Given the description of an element on the screen output the (x, y) to click on. 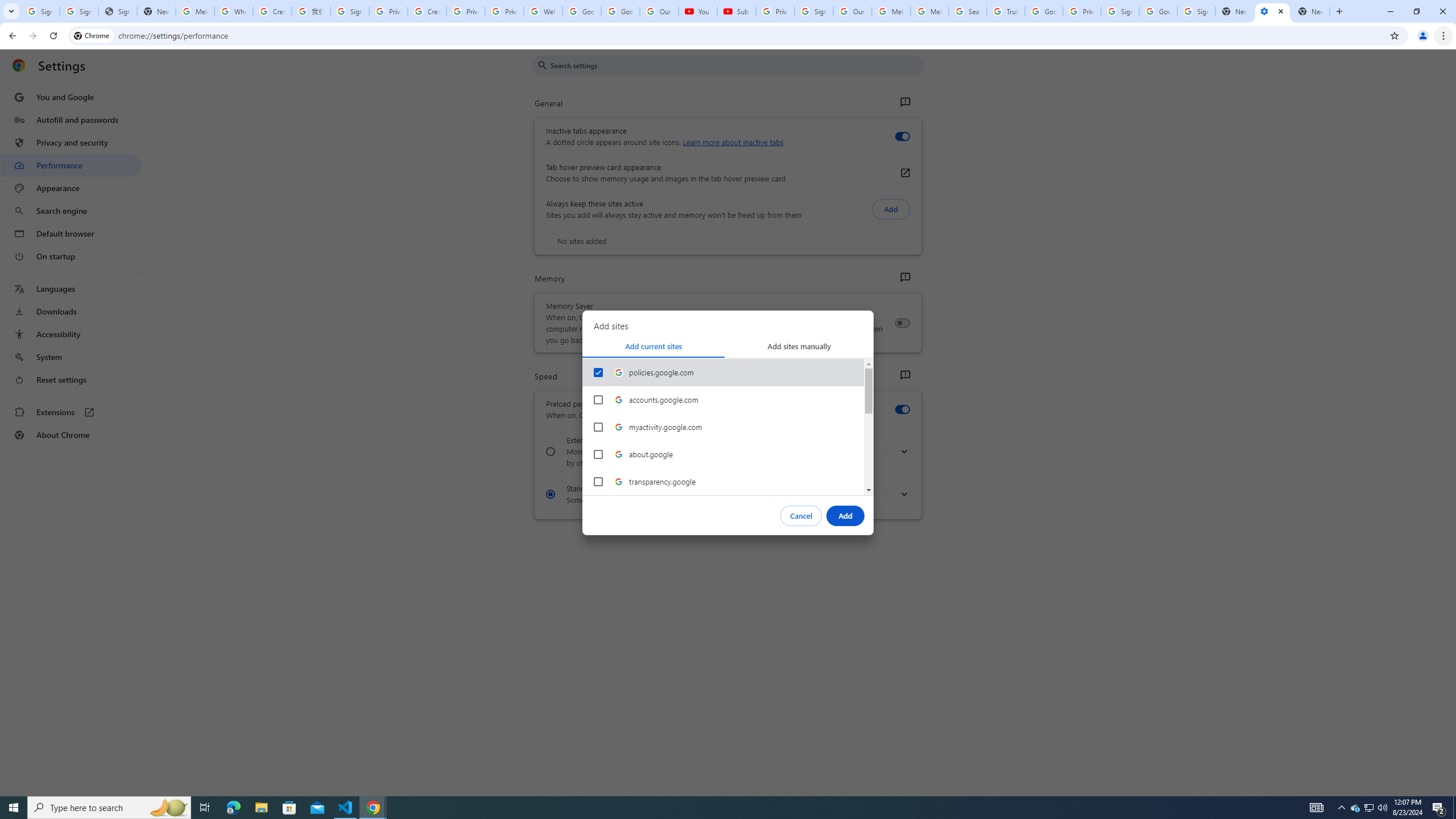
Add (845, 515)
Google Ads - Sign in (1043, 11)
Sign in - Google Accounts (79, 11)
Add sites manually (799, 345)
Search our Doodle Library Collection - Google Doodles (967, 11)
AutomationID: checkmark (598, 372)
Subscriptions - YouTube (736, 11)
